Given the description of an element on the screen output the (x, y) to click on. 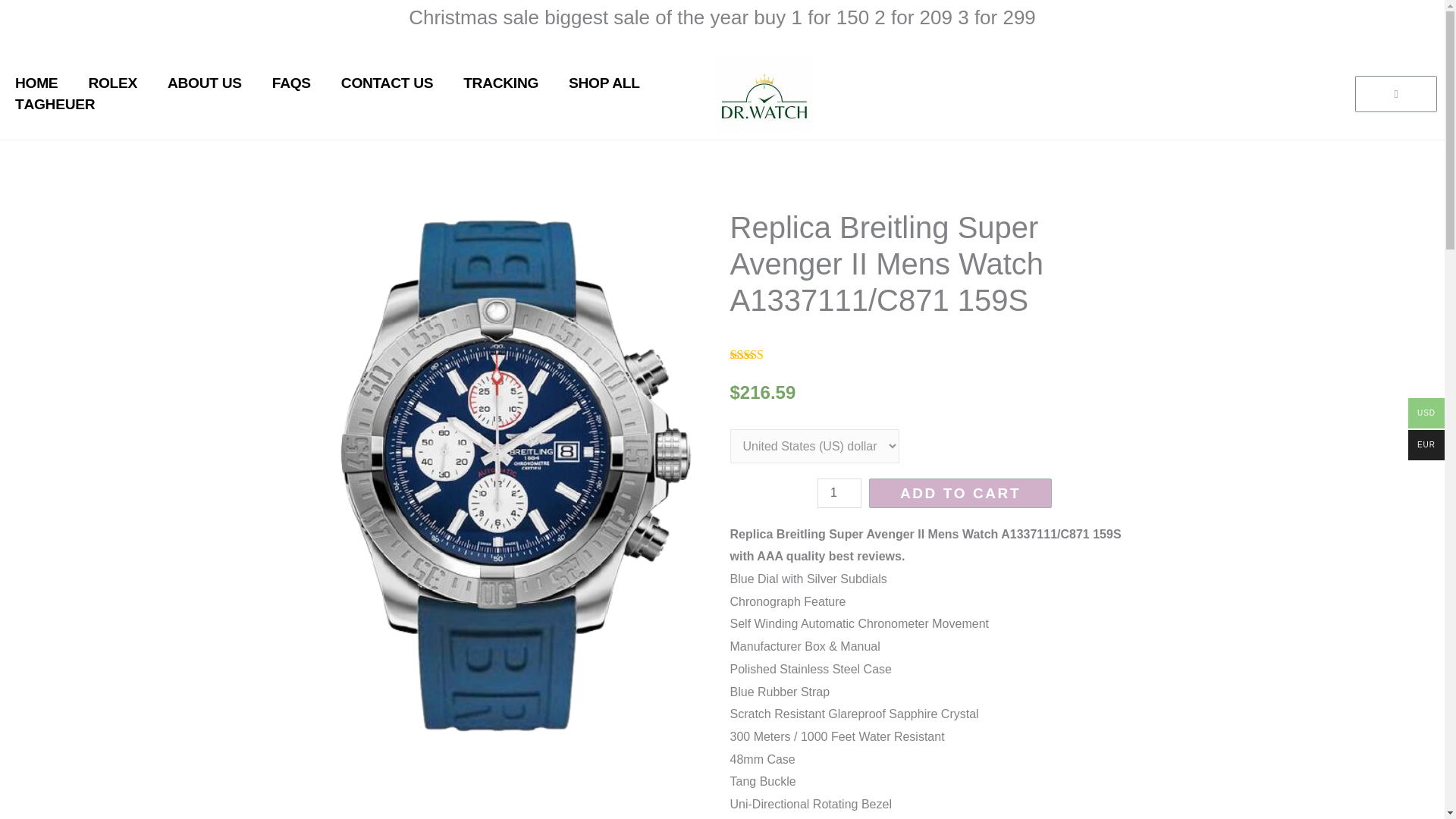
SHOP ALL (604, 83)
CONTACT US (387, 83)
ROLEX (112, 83)
HOME (36, 83)
TRACKING (500, 83)
1 (838, 492)
ADD TO CART (960, 492)
FAQS (291, 83)
cropped-WhatsApp-Image-2023-01-22-at-8.57.59-PM.jpeg (763, 93)
ABOUT US (204, 83)
